Given the description of an element on the screen output the (x, y) to click on. 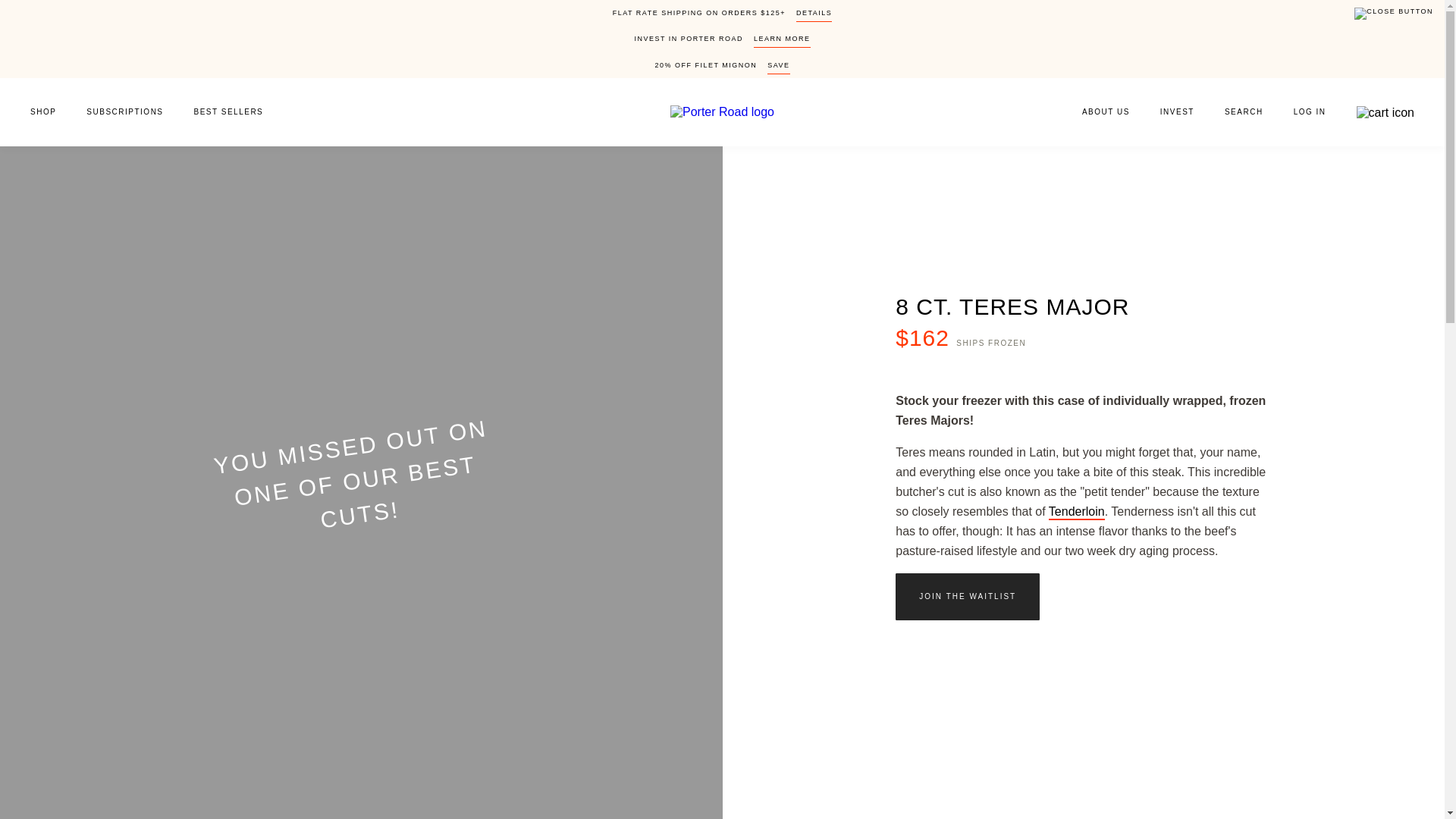
LOG IN (1309, 111)
SUBSCRIPTIONS (124, 111)
ABOUT US (1097, 111)
SEARCH (1243, 111)
LEARN MORE (782, 41)
SAVE (778, 67)
INVEST (1176, 111)
DETAILS (813, 15)
BEST SELLERS (236, 111)
SHOP (35, 111)
